Given the description of an element on the screen output the (x, y) to click on. 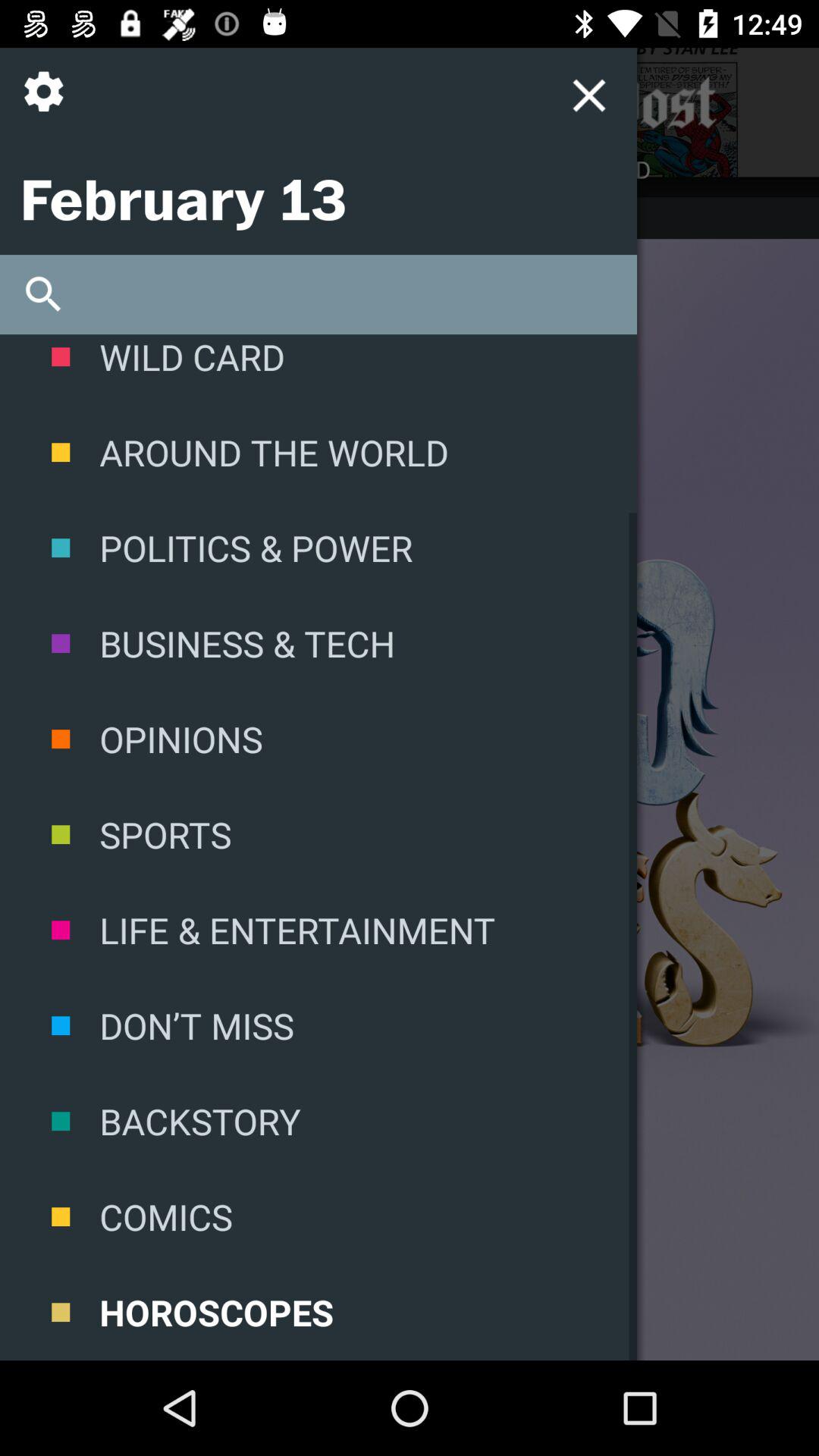
click the item next to the saved item (204, 169)
